Given the description of an element on the screen output the (x, y) to click on. 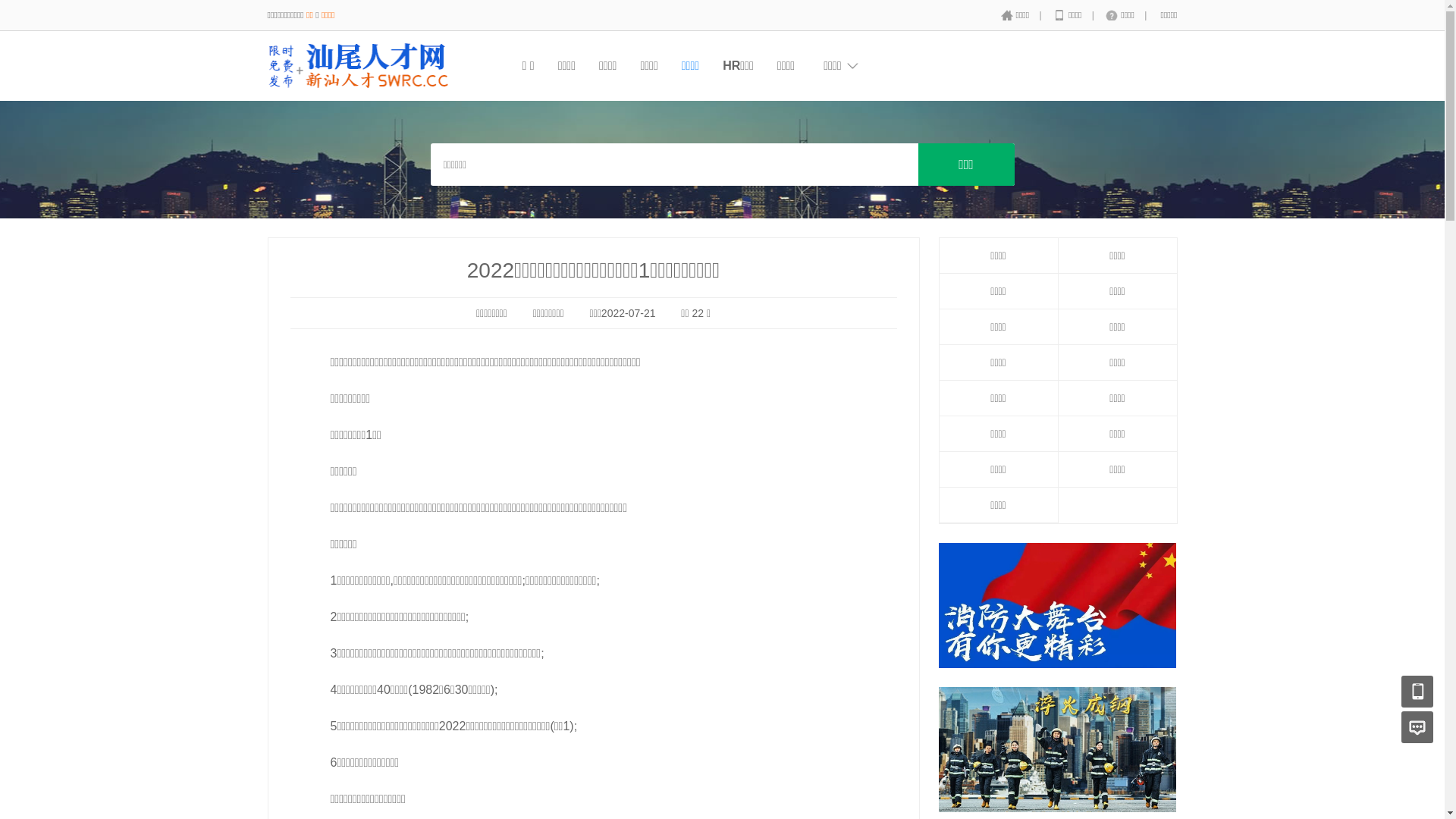
22 Element type: text (697, 313)
